Given the description of an element on the screen output the (x, y) to click on. 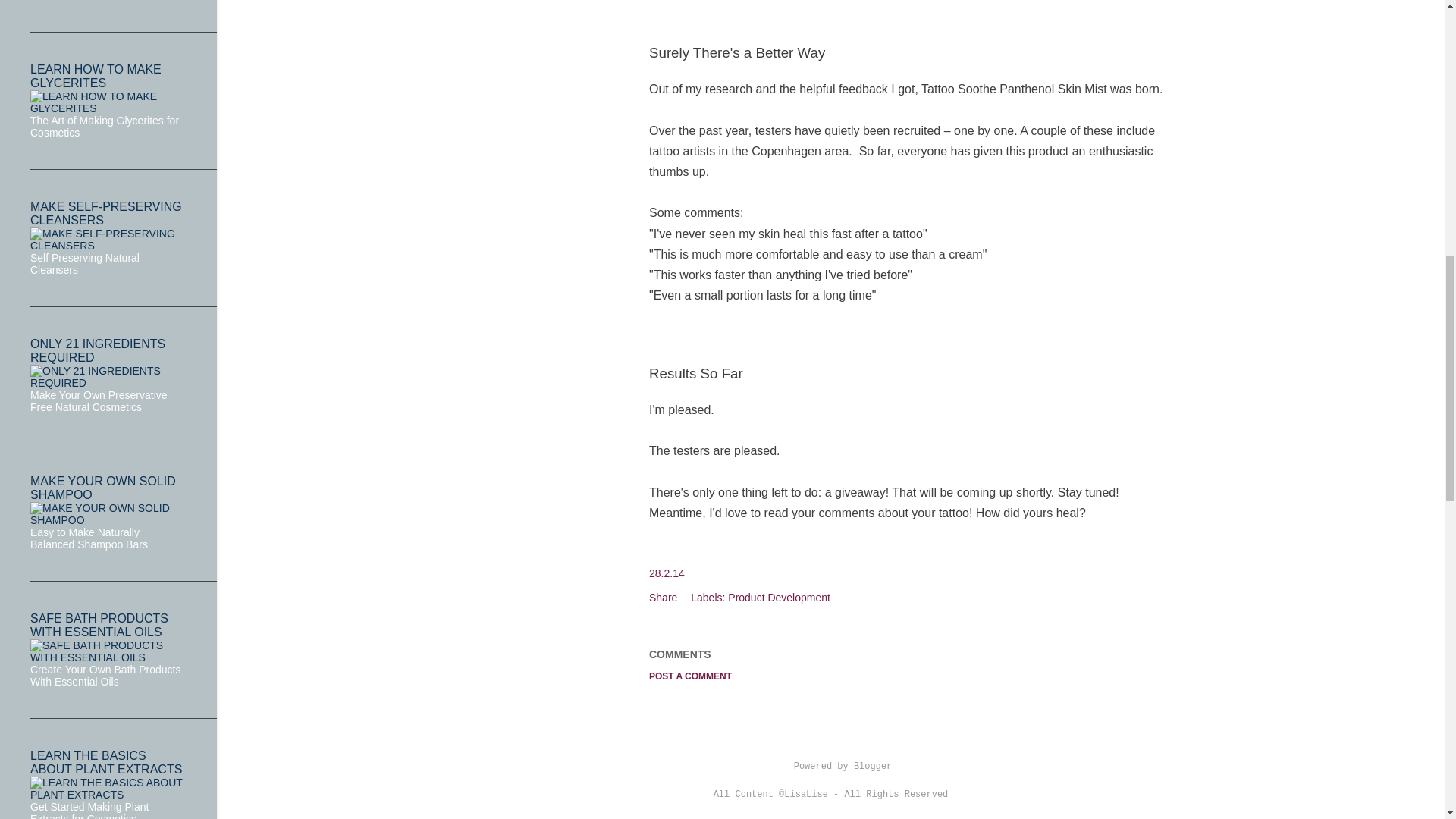
POST A COMMENT (690, 675)
28.2.14 (666, 573)
Share (663, 597)
Product Development (778, 597)
permanent link (666, 573)
